Given the description of an element on the screen output the (x, y) to click on. 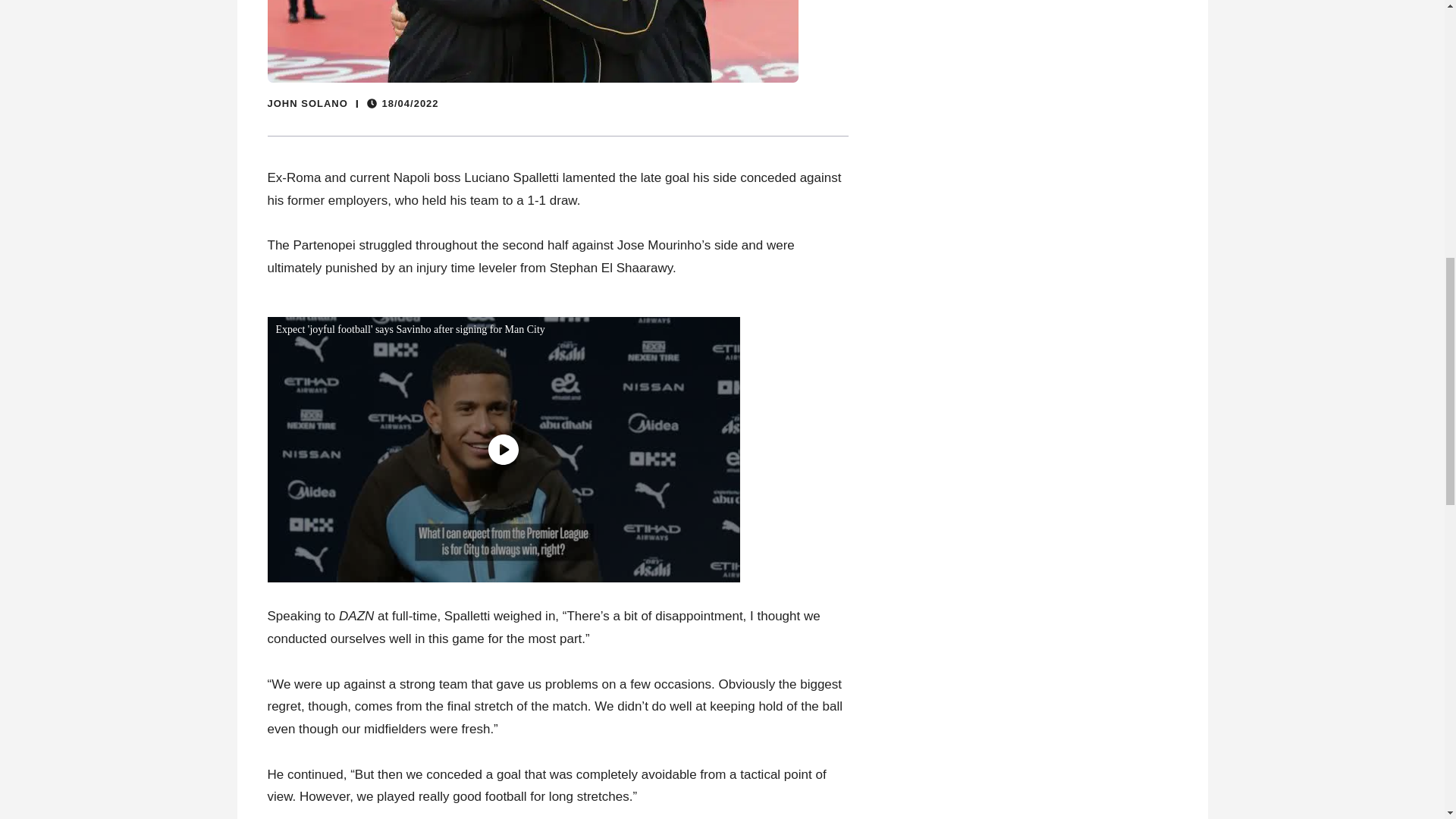
X (1434, 760)
